Given the description of an element on the screen output the (x, y) to click on. 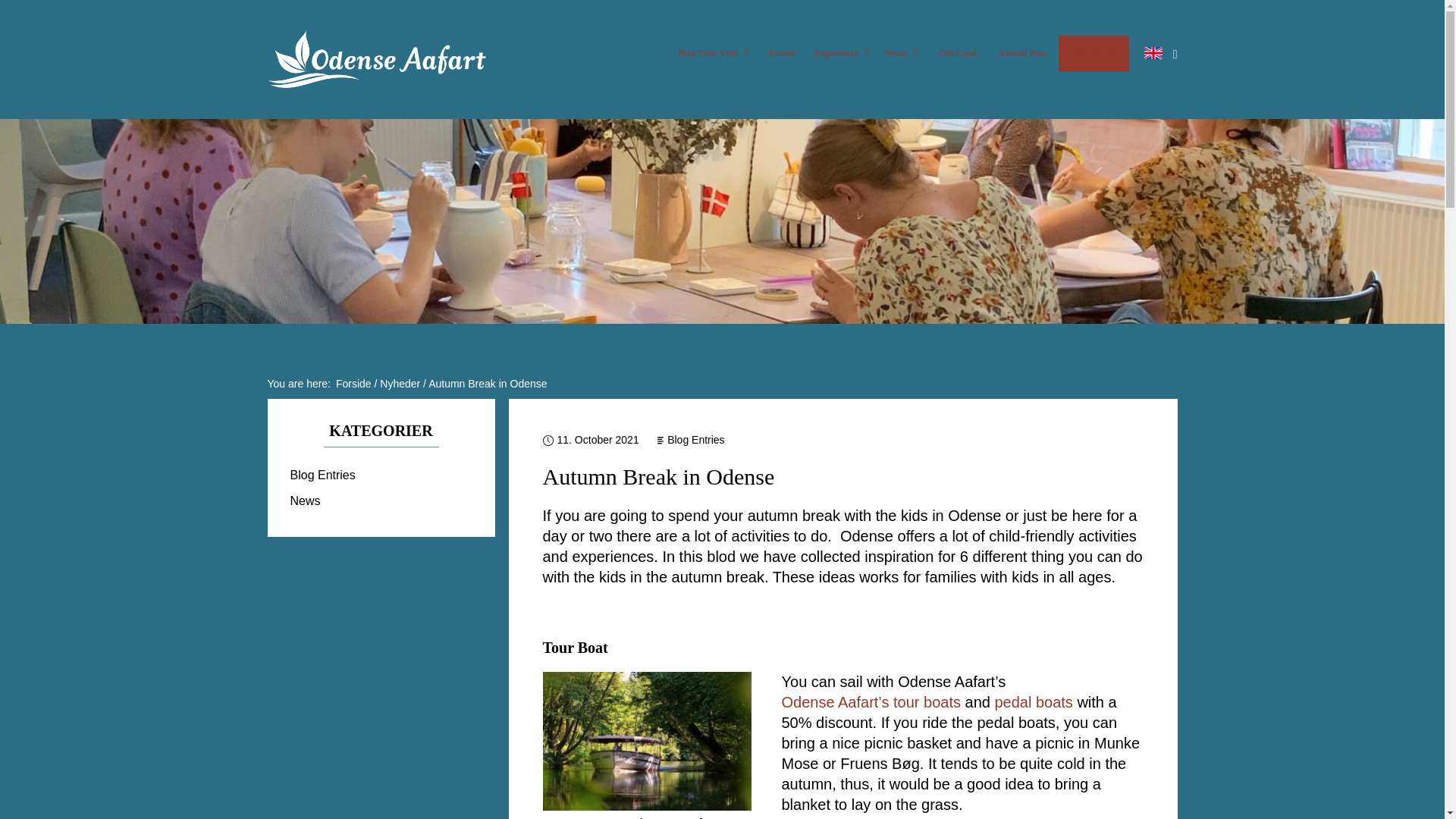
Events (781, 53)
Experience (841, 53)
Go to Nyheder. (400, 383)
Gift Card (956, 53)
Plan Your Visit (714, 53)
News (901, 53)
Annual Pass (1022, 53)
Buy Tickets (1093, 53)
